Given the description of an element on the screen output the (x, y) to click on. 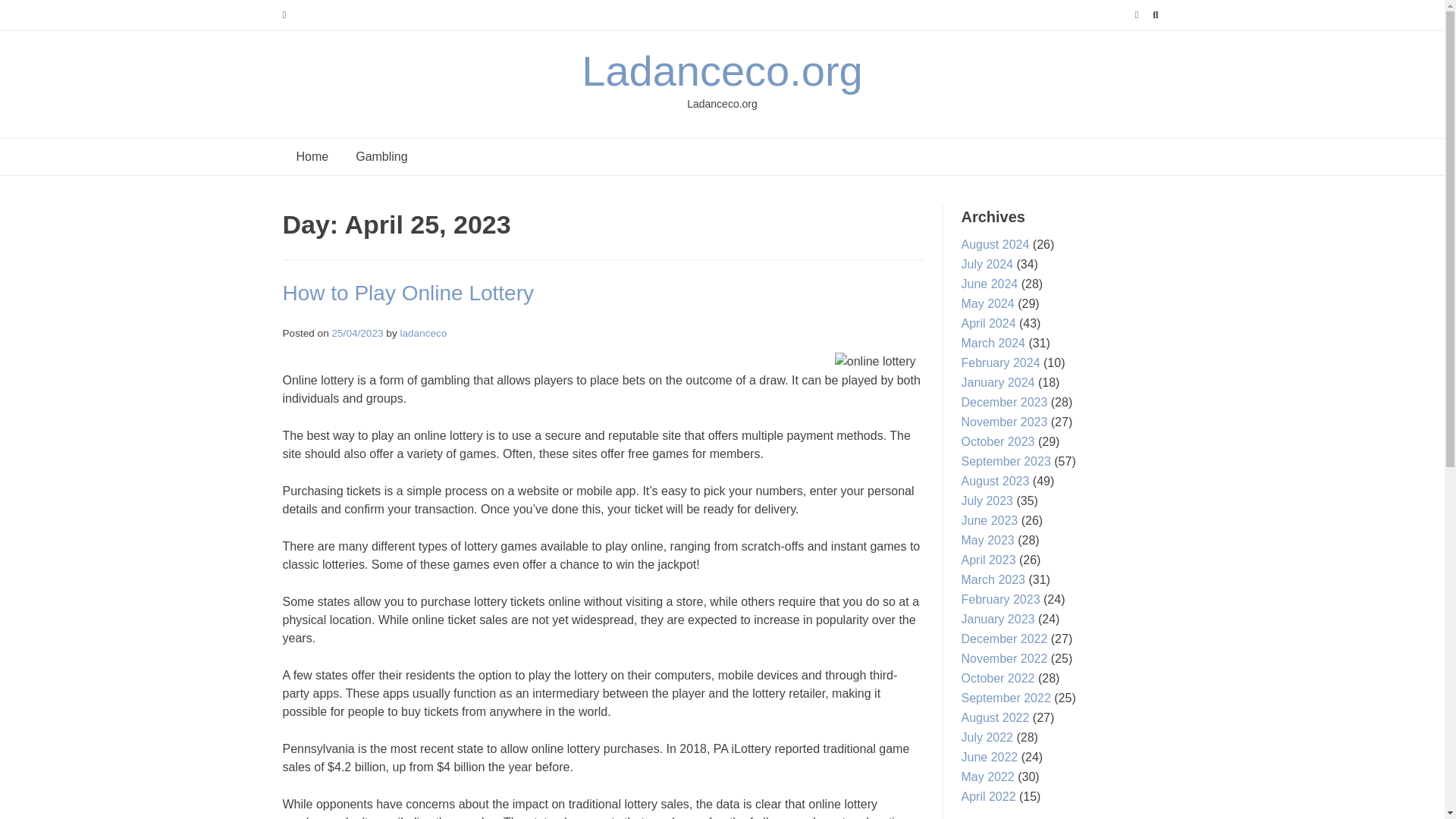
November 2022 (1004, 658)
Home (312, 156)
December 2023 (1004, 401)
August 2024 (994, 244)
ladanceco (422, 333)
June 2022 (988, 757)
May 2023 (987, 540)
October 2023 (997, 440)
March 2024 (993, 342)
Search (27, 13)
